Given the description of an element on the screen output the (x, y) to click on. 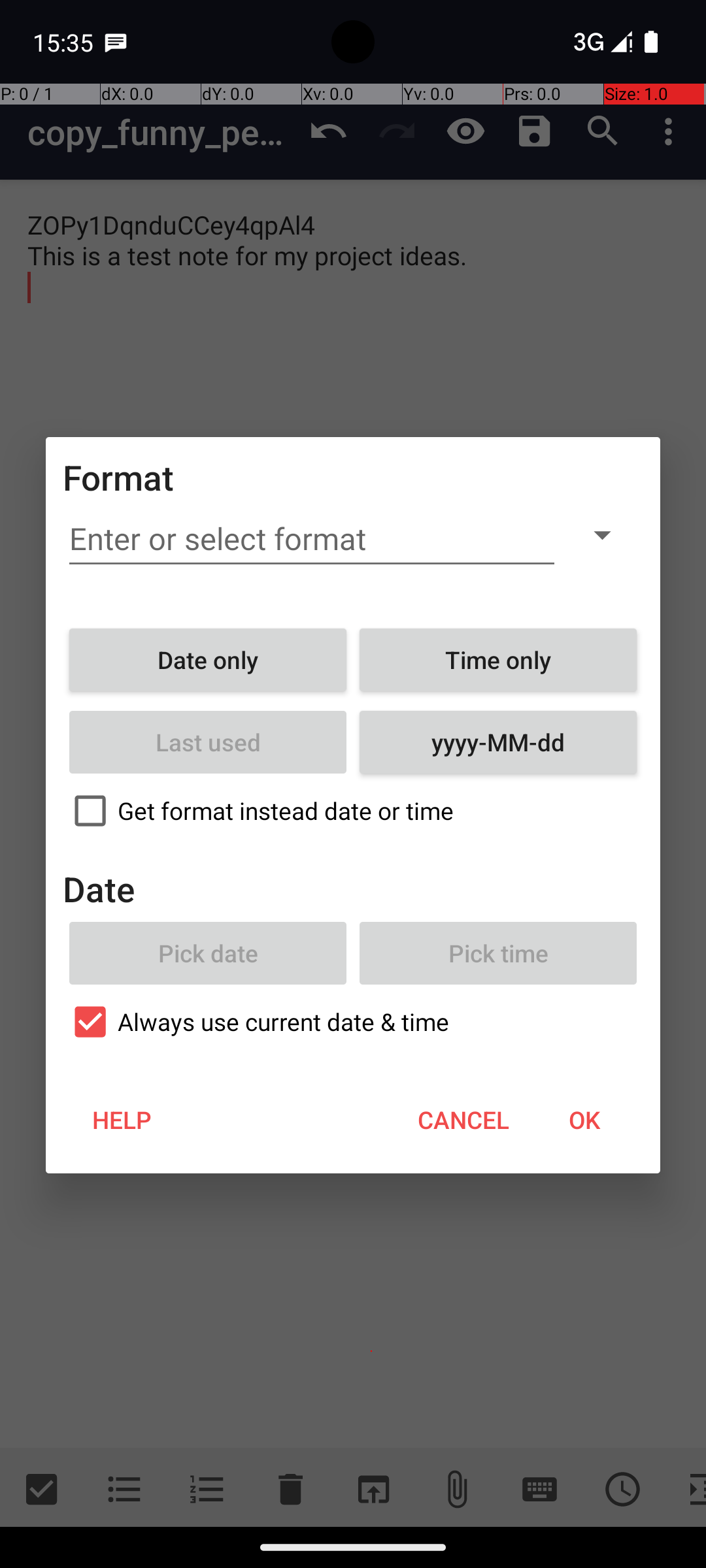
Format Element type: android.widget.TextView (118, 477)
Enter or select format Element type: android.widget.EditText (311, 538)
Choose format Element type: android.widget.TextView (601, 534)
Date only Element type: android.widget.Button (207, 659)
Time only Element type: android.widget.Button (498, 659)
Last used Element type: android.widget.Button (207, 742)
yyyy-MM-dd Element type: android.widget.Button (498, 742)
Get format instead date or time Element type: android.widget.CheckBox (352, 810)
Pick date Element type: android.widget.Button (207, 953)
Pick time Element type: android.widget.Button (498, 953)
Always use current date & time Element type: android.widget.CheckBox (352, 1021)
HELP Element type: android.widget.Button (121, 1119)
